Given the description of an element on the screen output the (x, y) to click on. 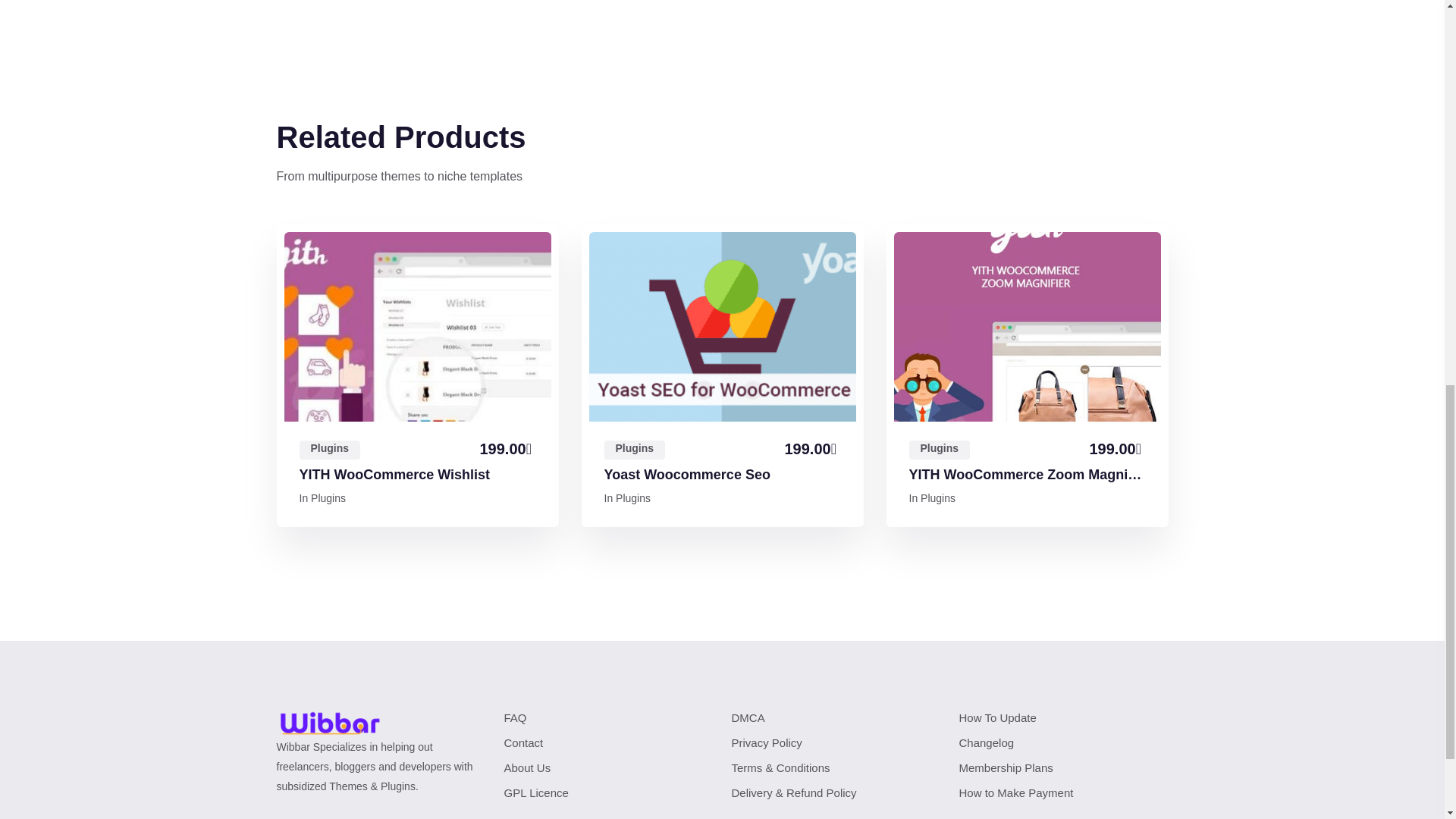
Plugins (328, 498)
YITH WooCommerce Wishlist (393, 475)
Yoast Woocommerce Seo (687, 475)
Plugins (328, 449)
Plugins (632, 498)
Plugins (938, 449)
Plugins (634, 449)
YITH WooCommerce Zoom Magnifier Premium (1026, 475)
